Given the description of an element on the screen output the (x, y) to click on. 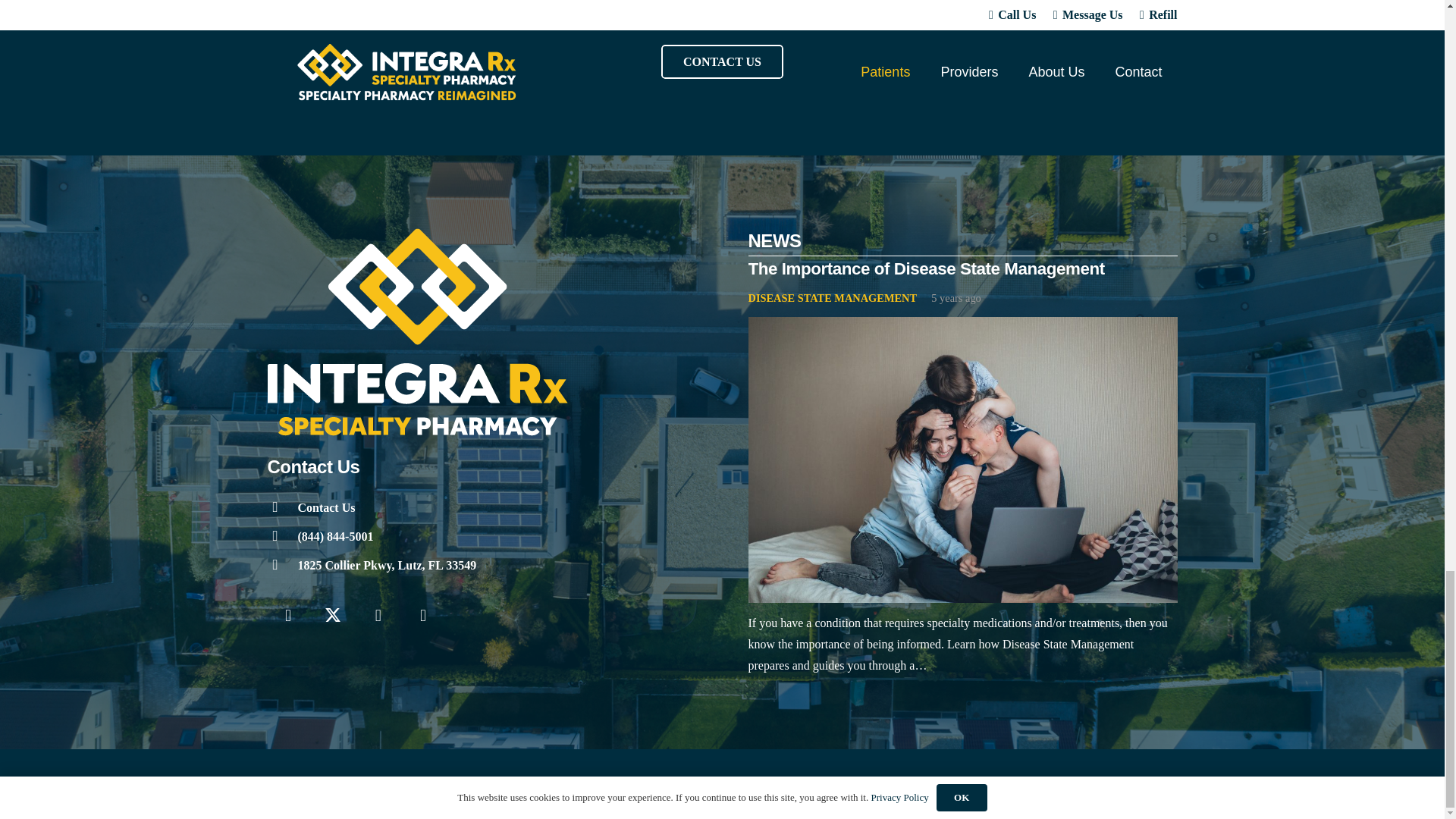
Facebook (287, 615)
1825 Collier Pkwy, Lutz, FL 33549 (386, 565)
YouTube (377, 615)
Contact Us (722, 61)
CONTACT US (722, 61)
Contact Us (326, 507)
Contact Us (281, 507)
Contact Us (326, 507)
Twitter (333, 615)
LinkedIn (423, 615)
